Given the description of an element on the screen output the (x, y) to click on. 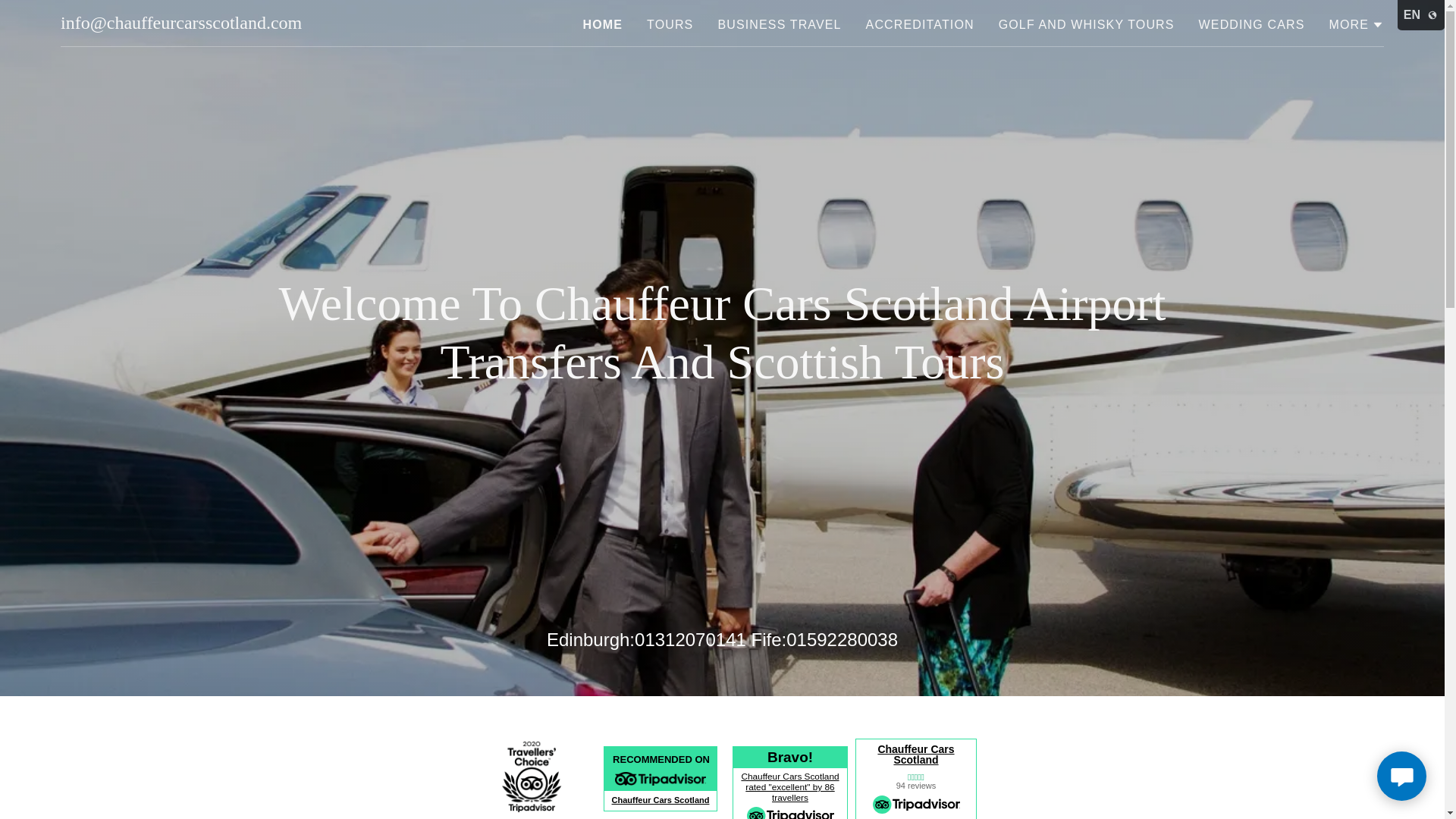
MORE (1355, 24)
HOME (602, 24)
TOURS (669, 24)
BUSINESS TRAVEL (779, 24)
WEDDING CARS (1250, 24)
01312070141 (689, 639)
GOLF AND WHISKY TOURS (1086, 24)
ACCREDITATION (919, 24)
01592280038 (842, 639)
